Given the description of an element on the screen output the (x, y) to click on. 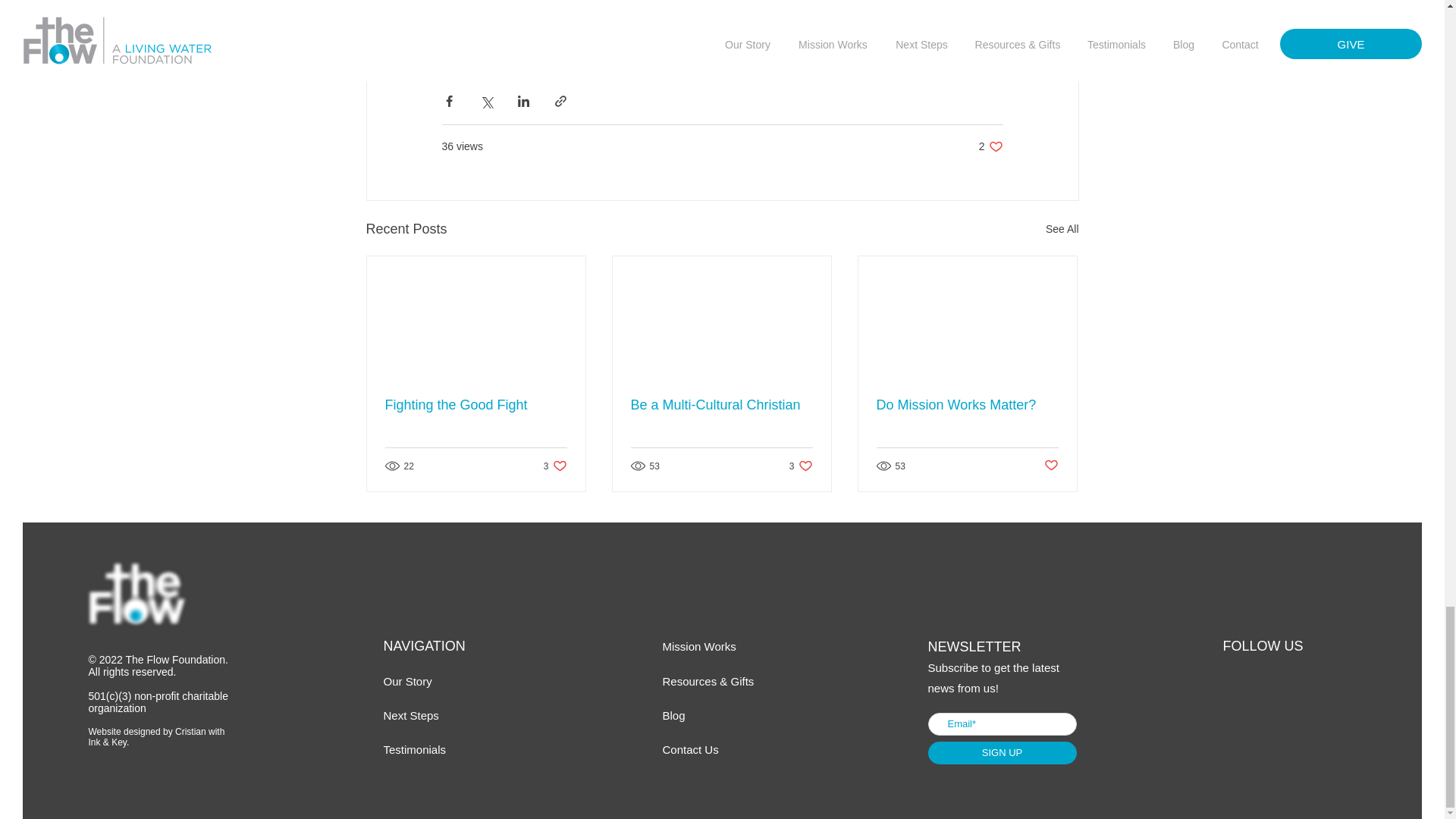
Blog (673, 715)
Post not marked as liked (1050, 465)
See All (1061, 229)
Next Steps (411, 715)
SIGN UP (800, 465)
Fighting the Good Fight (1002, 753)
Contact Us (476, 405)
Be a Multi-Cultural Christian (690, 748)
Mission Works (721, 405)
